Given the description of an element on the screen output the (x, y) to click on. 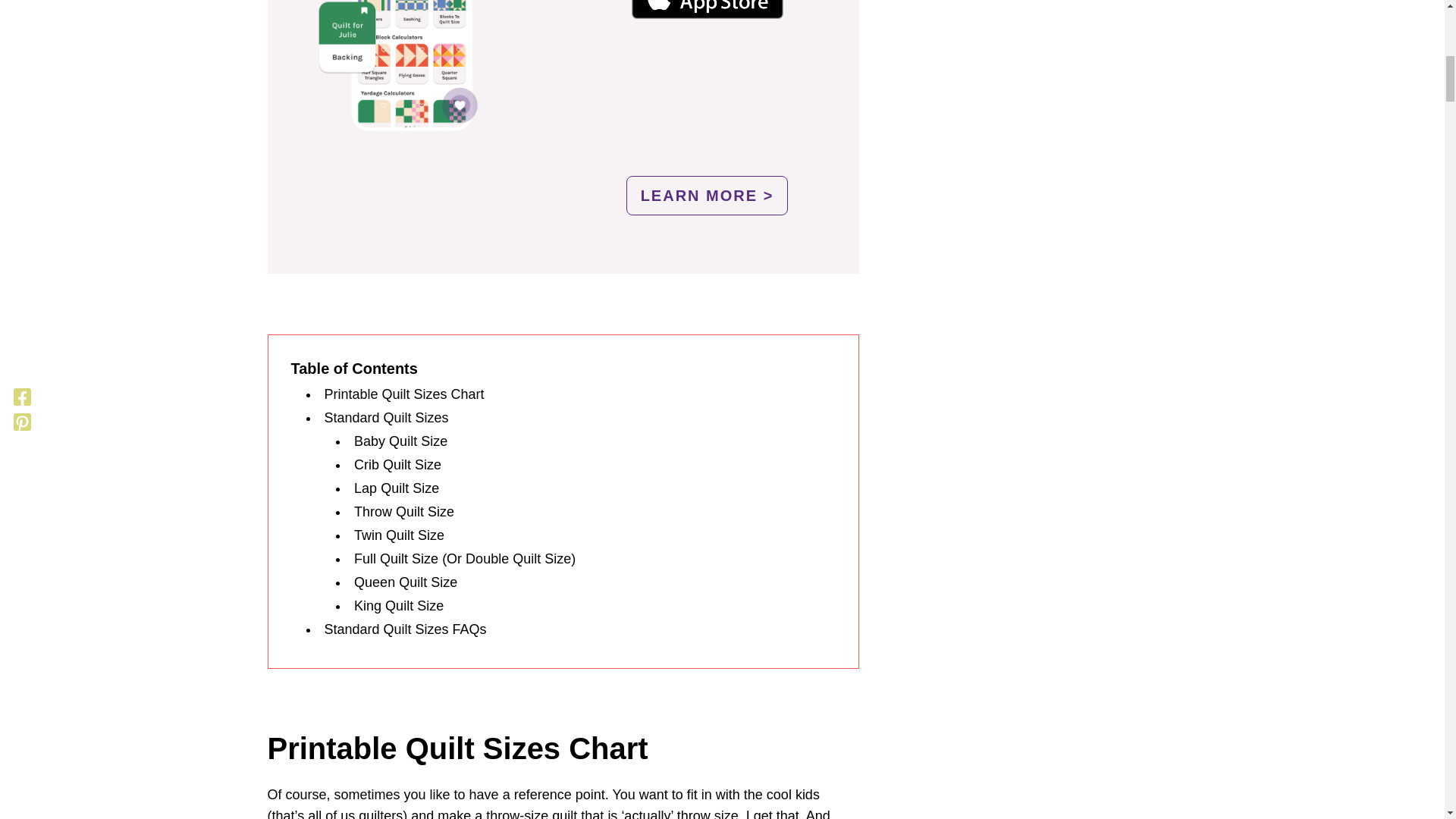
Standard Quilt Sizes (386, 417)
Baby Quilt Size (399, 441)
Lap Quilt Size (396, 488)
Twin Quilt Size (398, 534)
Google Play Icon (706, 97)
Crib Quilt Size (397, 464)
Throw Quilt Size (403, 511)
Apple Store Icon (706, 9)
Printable Quilt Sizes Chart (404, 394)
